Given the description of an element on the screen output the (x, y) to click on. 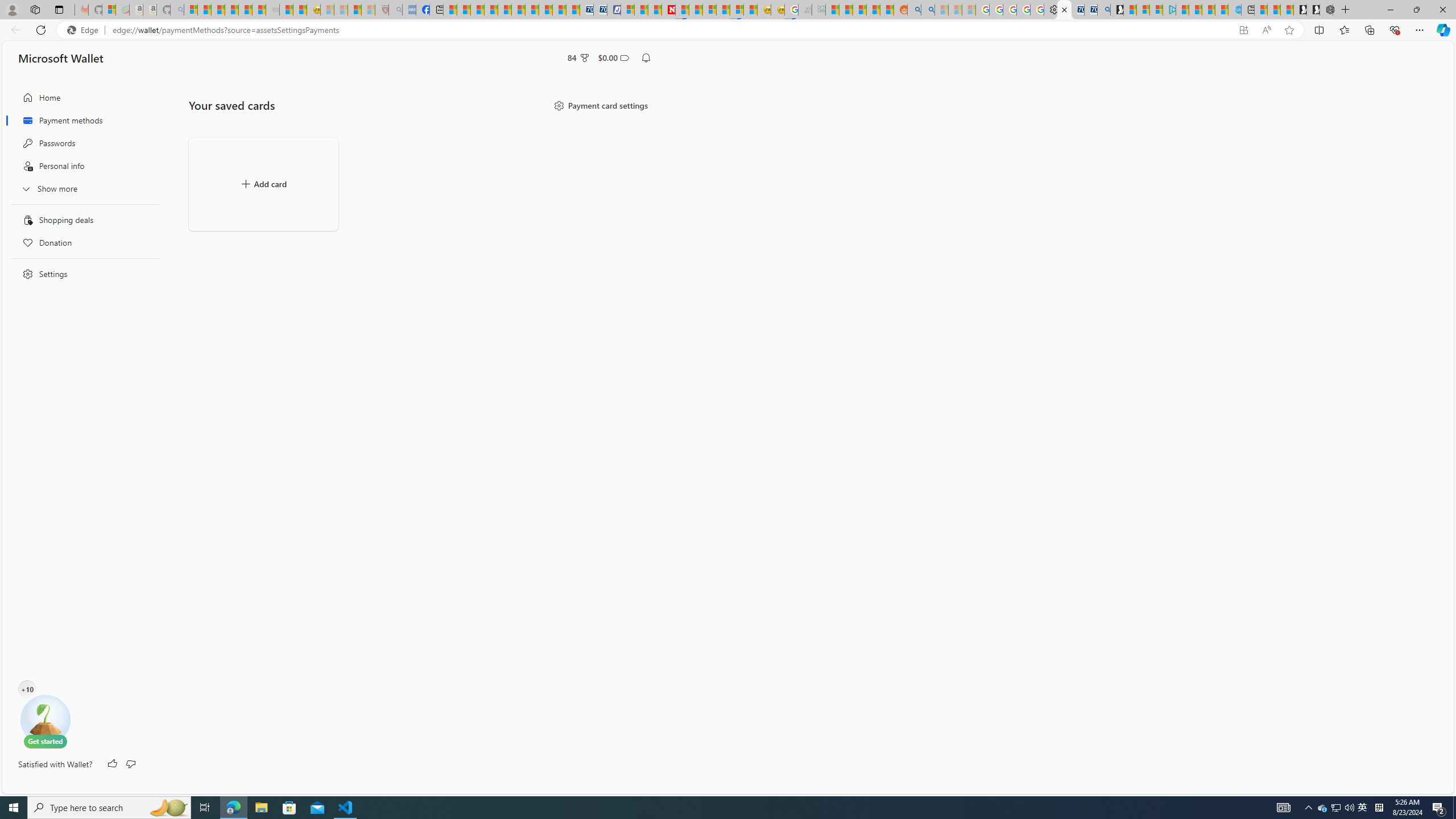
Personal info (81, 165)
Climate Damage Becomes Too Severe To Reverse (490, 9)
E-tree (44, 720)
Payment card settings (600, 105)
New Report Confirms 2023 Was Record Hot | Watch (245, 9)
